Given the description of an element on the screen output the (x, y) to click on. 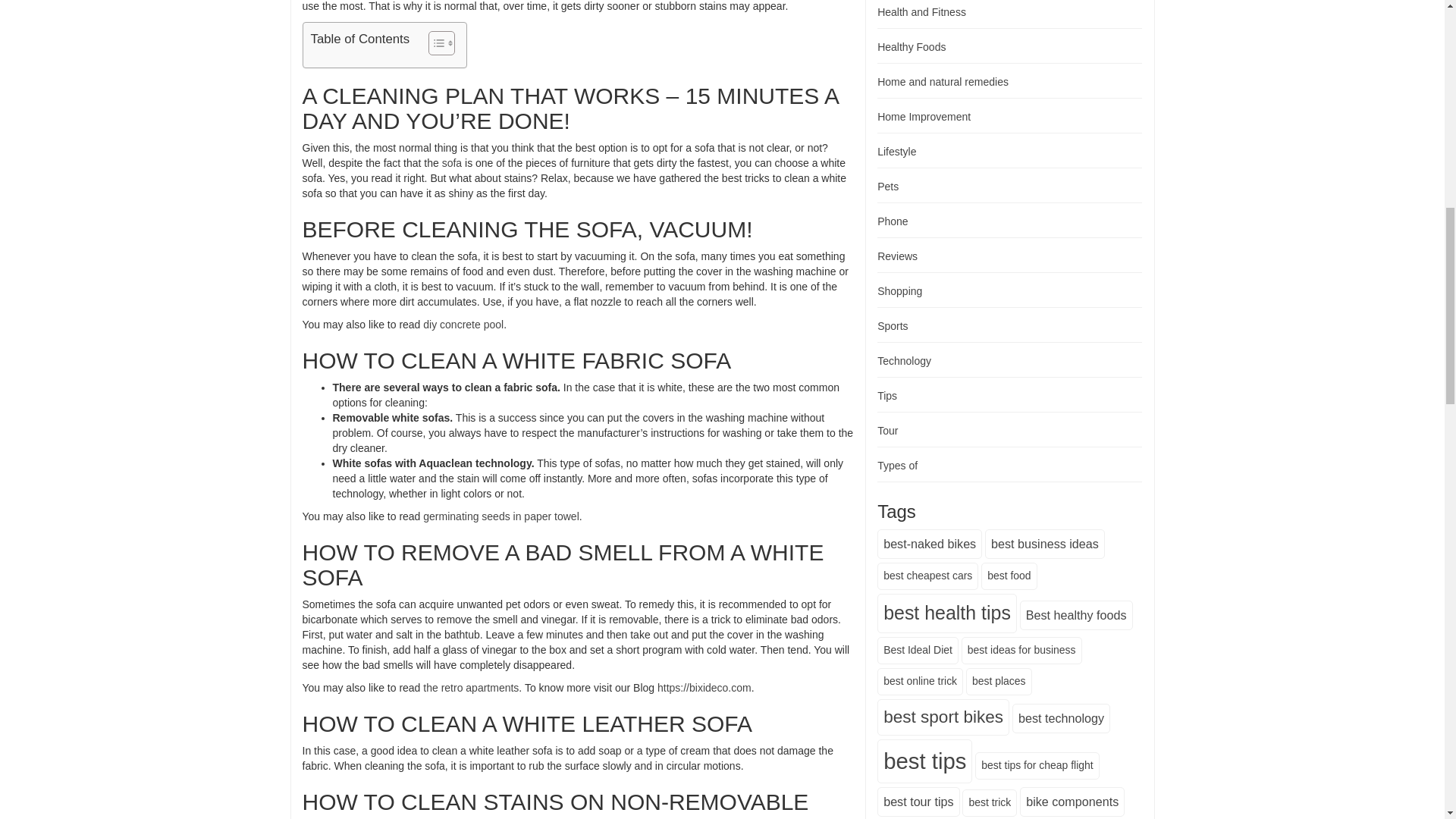
the retro apartments (470, 687)
diy concrete pool (463, 324)
sofa (451, 162)
germinating seeds in paper towel (500, 516)
